Given the description of an element on the screen output the (x, y) to click on. 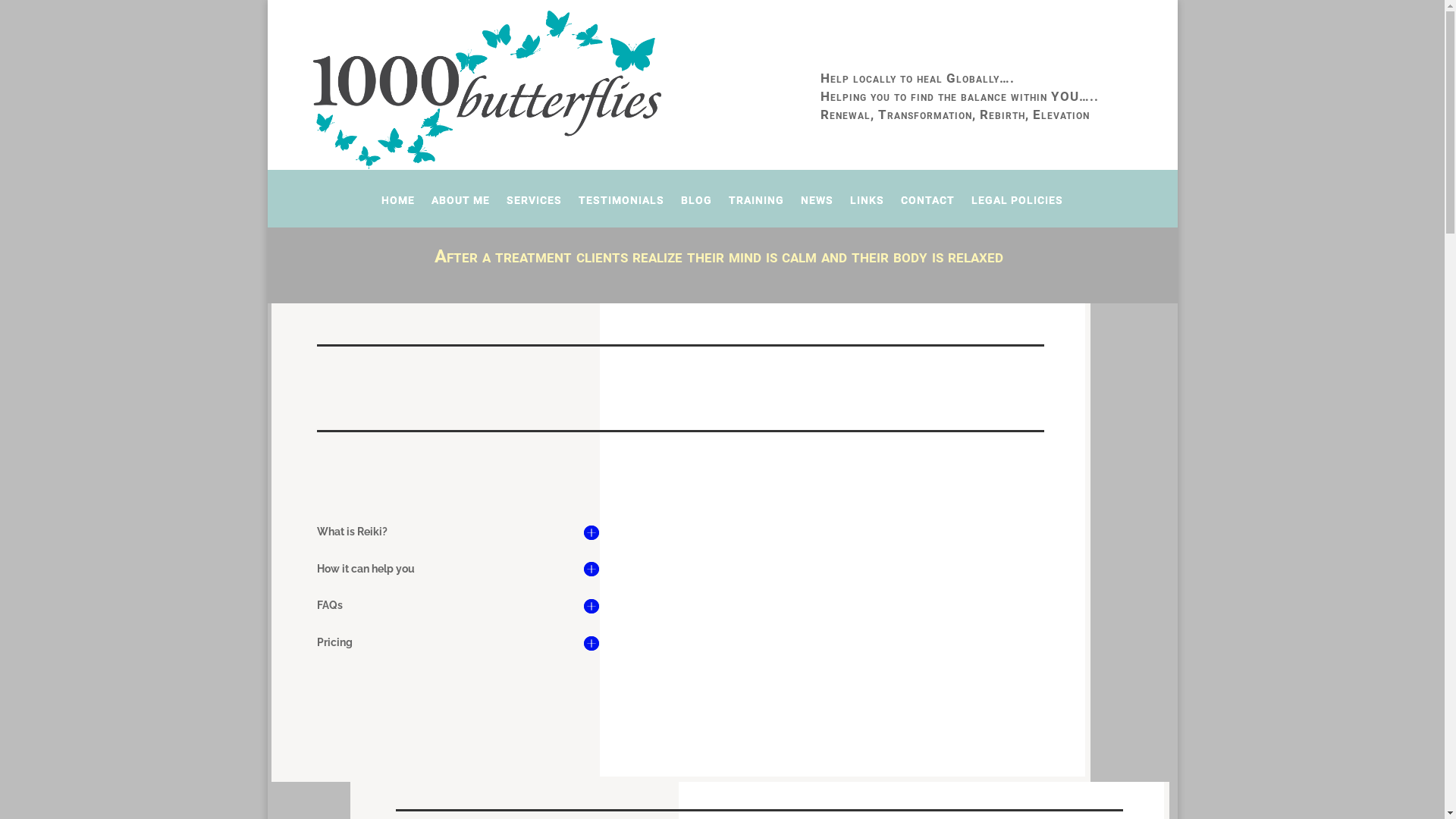
ABOUT ME Element type: text (460, 210)
HOME Element type: text (397, 210)
BLOG Element type: text (696, 210)
NEWS Element type: text (816, 210)
TRAINING Element type: text (756, 210)
1000butterflies - april 15 2021 Element type: hover (486, 89)
SERVICES Element type: text (533, 210)
LEGAL POLICIES Element type: text (1017, 210)
TESTIMONIALS Element type: text (621, 210)
CONTACT Element type: text (927, 210)
LINKS Element type: text (867, 210)
